Given the description of an element on the screen output the (x, y) to click on. 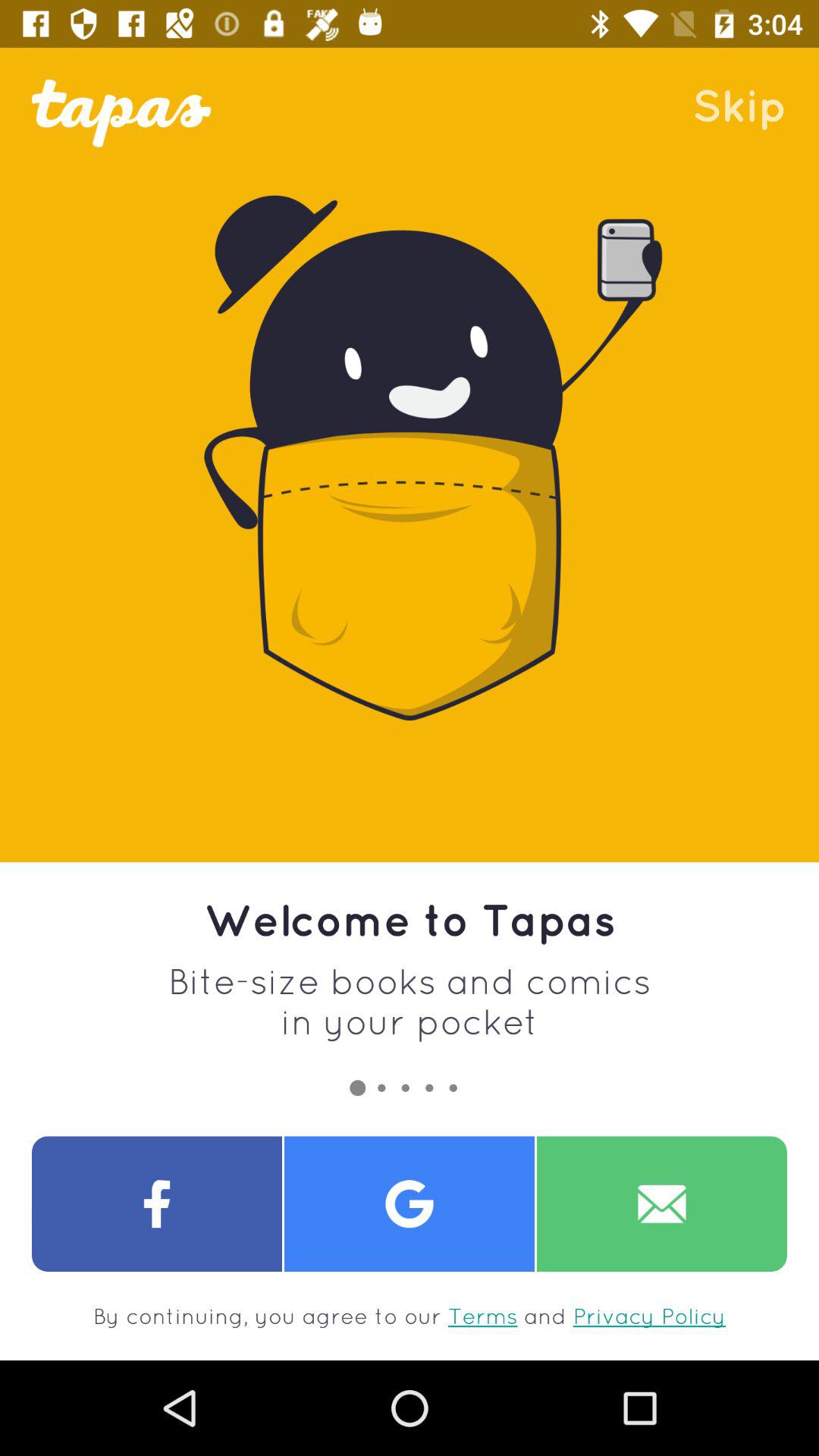
go to google page (409, 1203)
